Given the description of an element on the screen output the (x, y) to click on. 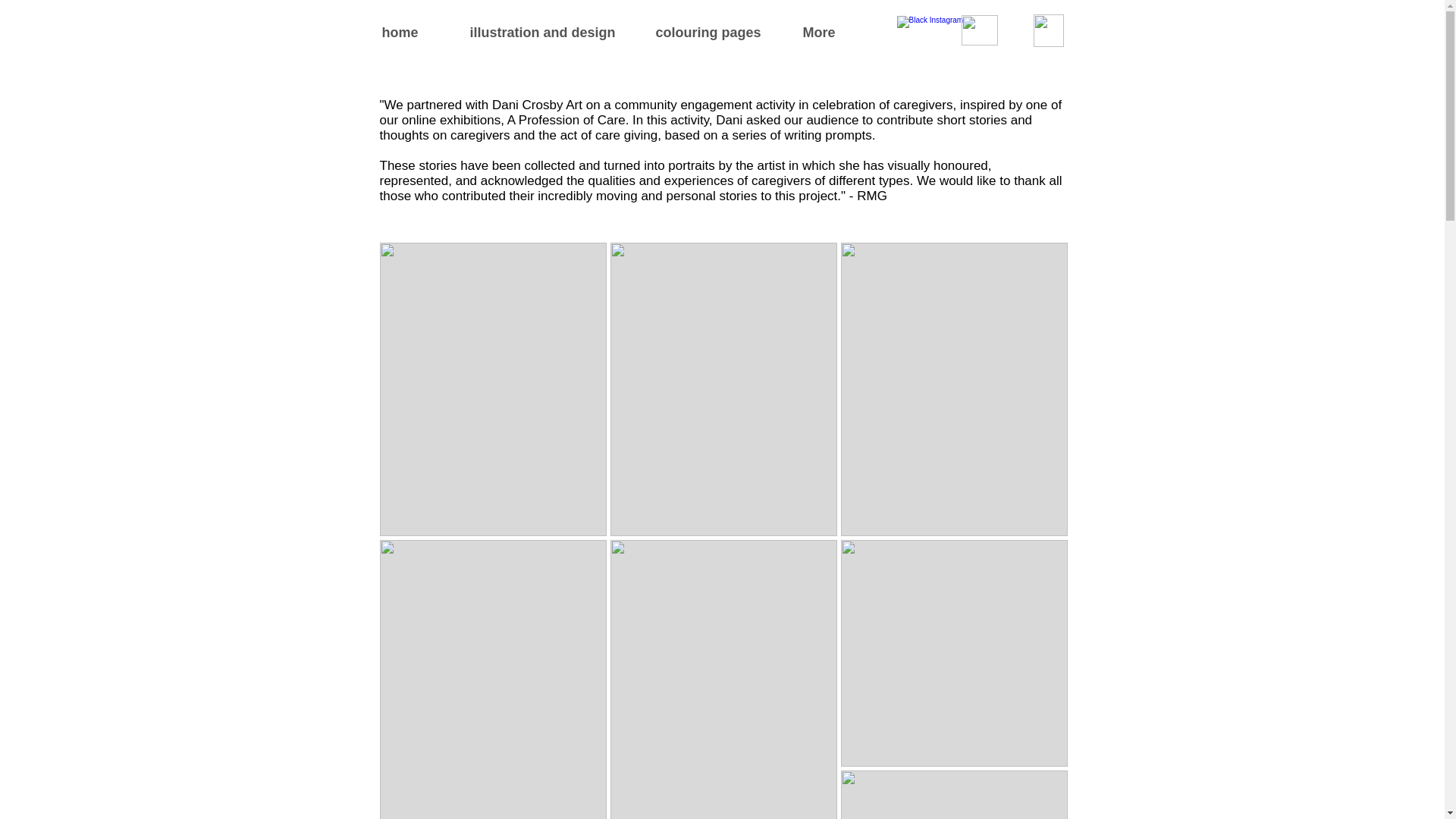
Eye (978, 30)
home (418, 32)
Dani Crosby Art (537, 104)
colouring pages (720, 32)
illustration and design (555, 32)
A Profession of Care (566, 120)
